Given the description of an element on the screen output the (x, y) to click on. 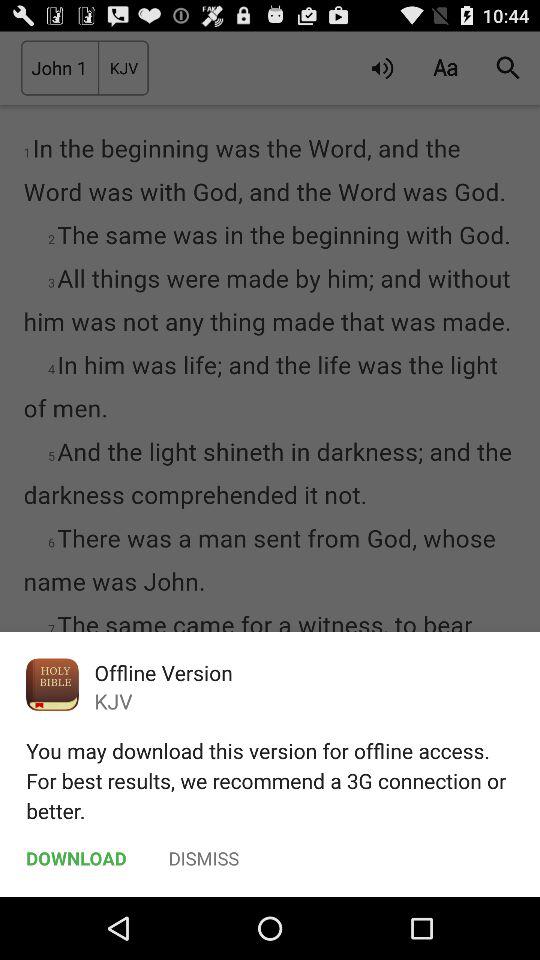
tap the item next to the download (203, 858)
